Given the description of an element on the screen output the (x, y) to click on. 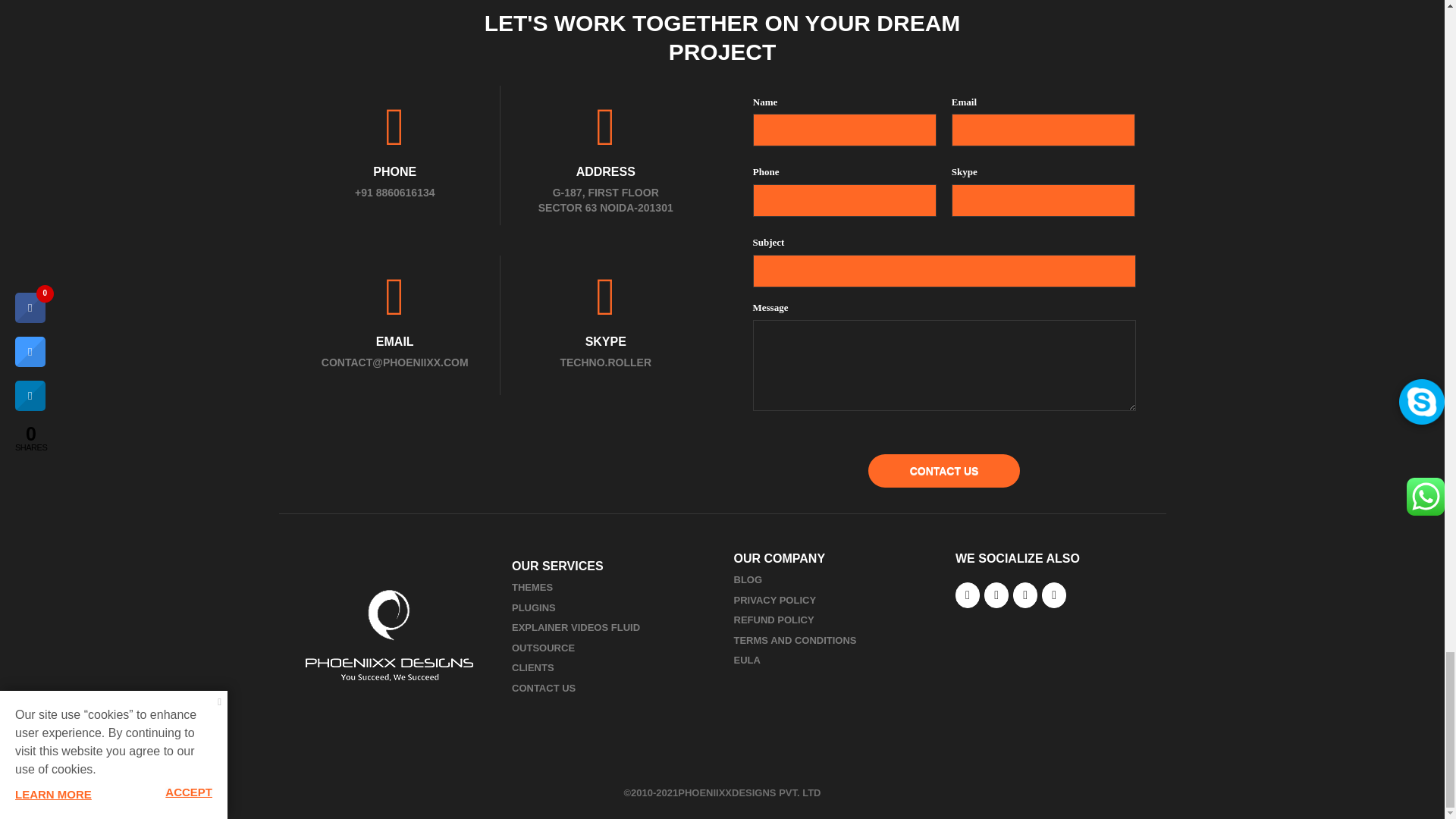
Phoeniixx on Facebook (967, 595)
Phoeniixx on Google (1024, 595)
Phoeniixx on Youtube (1053, 595)
Phoeniixx on X Twitter (996, 595)
